Given the description of an element on the screen output the (x, y) to click on. 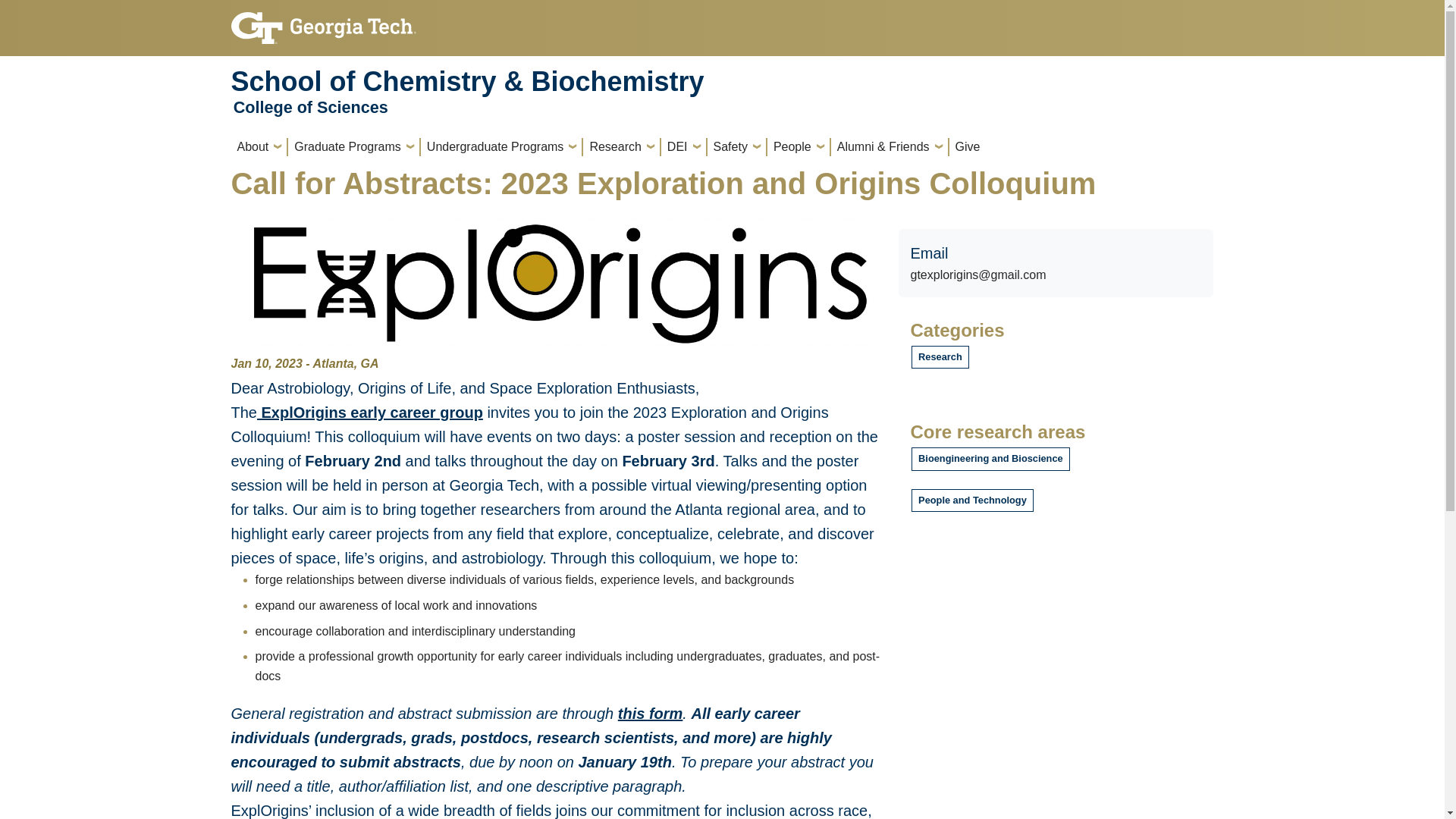
About (258, 147)
Undergraduate Programs (501, 147)
College of Sciences (310, 107)
College of Sciences (310, 107)
Graduate Programs (353, 147)
Georgia Institute of Technology (322, 21)
